Given the description of an element on the screen output the (x, y) to click on. 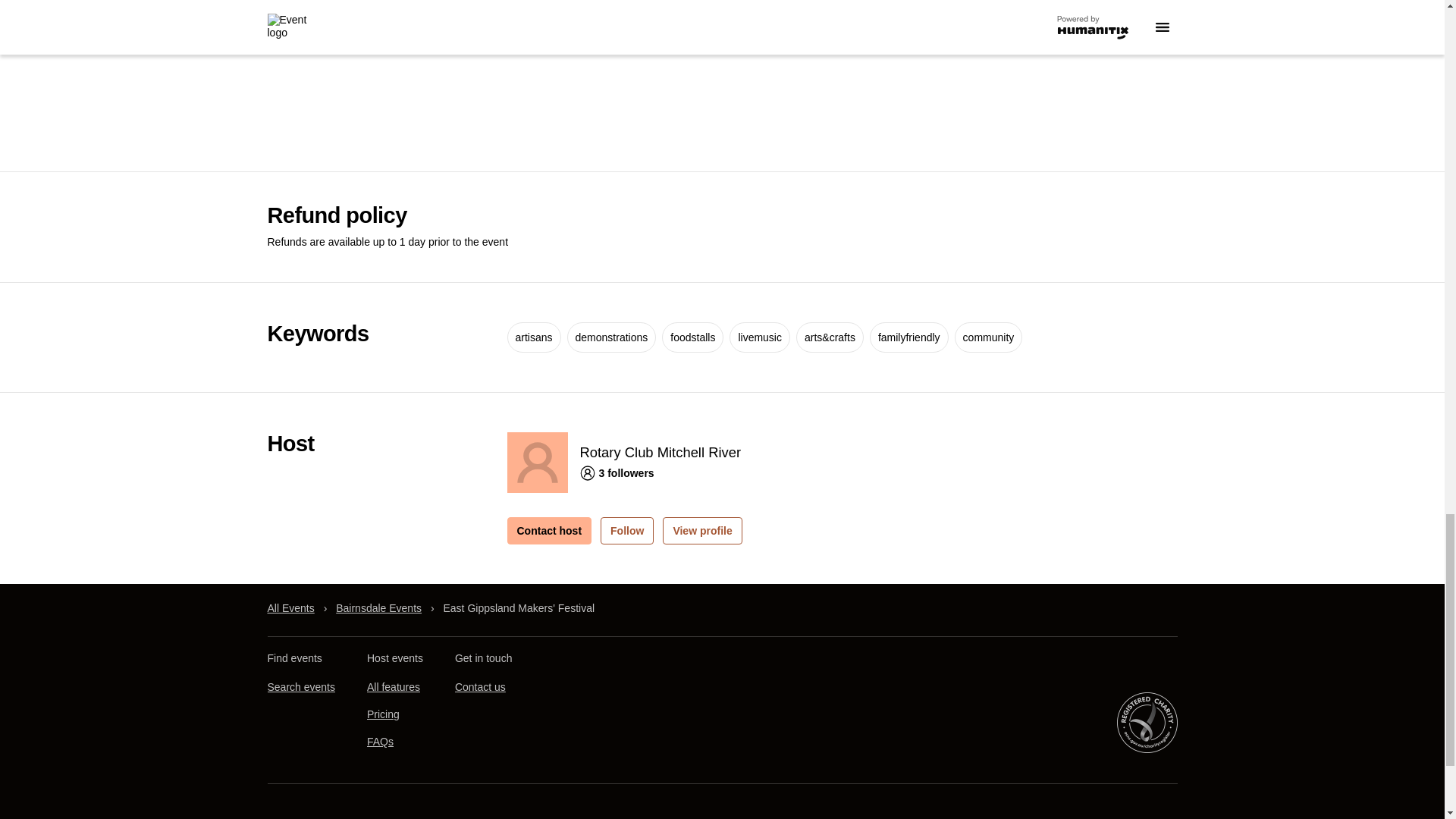
Search events (300, 687)
View profile (701, 530)
East Gippsland Makers' Festival (518, 608)
Bairnsdale Events (379, 608)
All features (393, 687)
All Events (290, 608)
Contact host (548, 530)
Follow (626, 530)
